Given the description of an element on the screen output the (x, y) to click on. 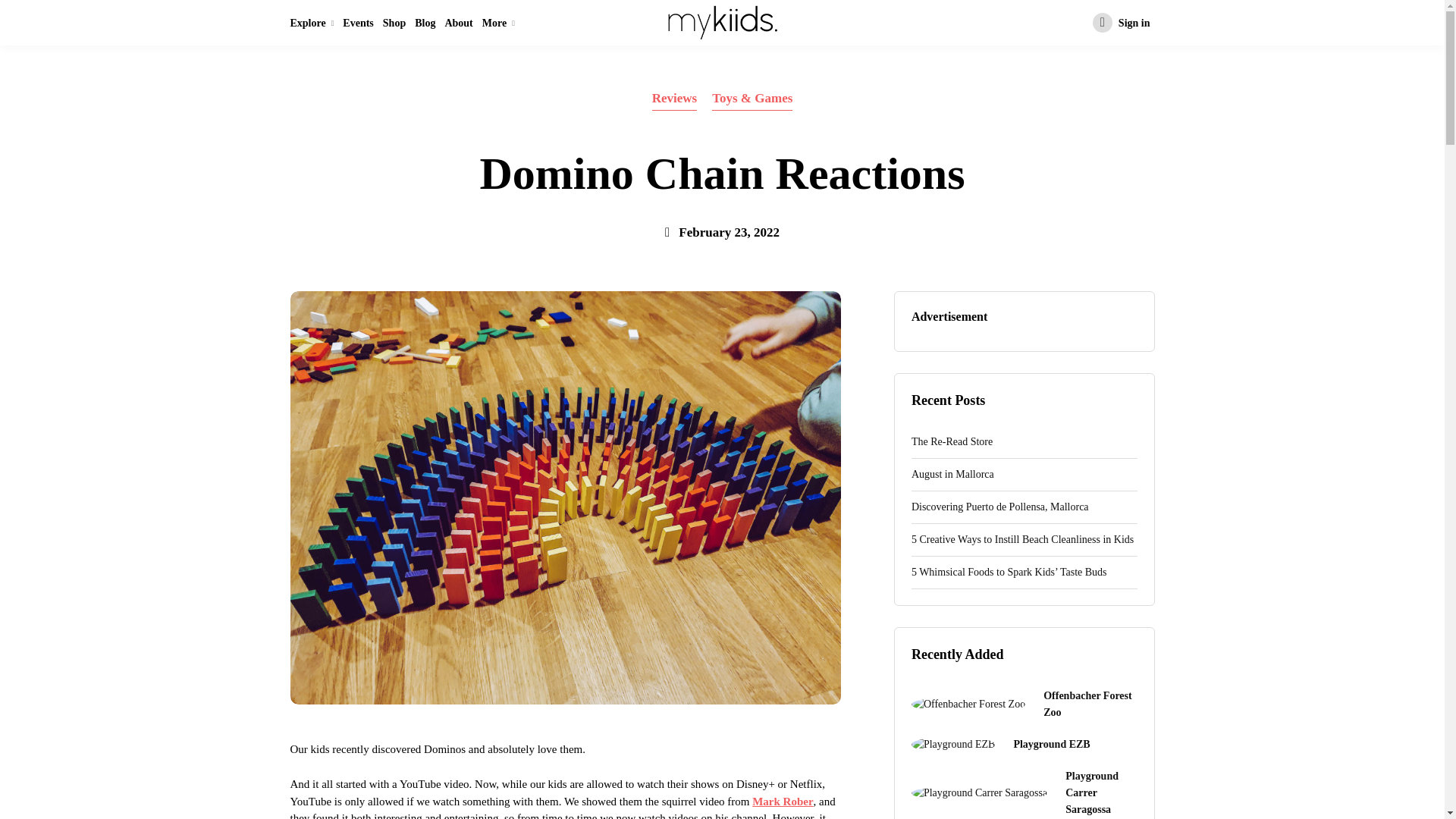
Mark Rober (782, 801)
More (498, 23)
Blog (424, 23)
Explore (313, 23)
Shop (394, 23)
Sign in (1120, 22)
Reviews (674, 98)
Events (357, 23)
About (458, 23)
